Given the description of an element on the screen output the (x, y) to click on. 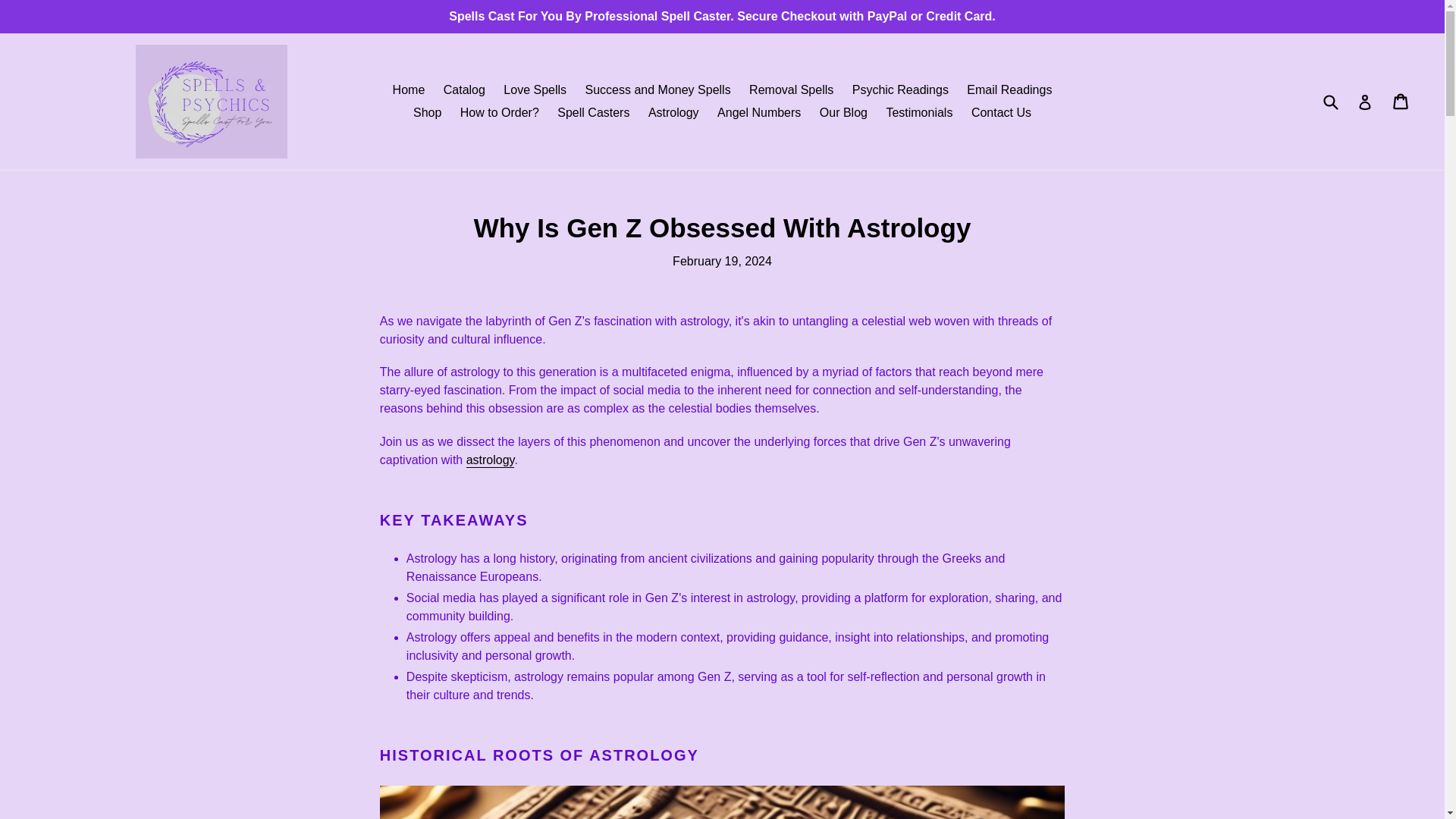
Love Spells (534, 89)
How to Order? (499, 112)
Shop (427, 112)
Email Readings (1401, 101)
Submit (1009, 89)
Testimonials (1329, 101)
astrology (918, 112)
Catalog (490, 460)
Removal Spells (464, 89)
Psychic Readings (791, 89)
Home (900, 89)
Angel Numbers (408, 89)
Contact Us (759, 112)
Astrology (1001, 112)
